Given the description of an element on the screen output the (x, y) to click on. 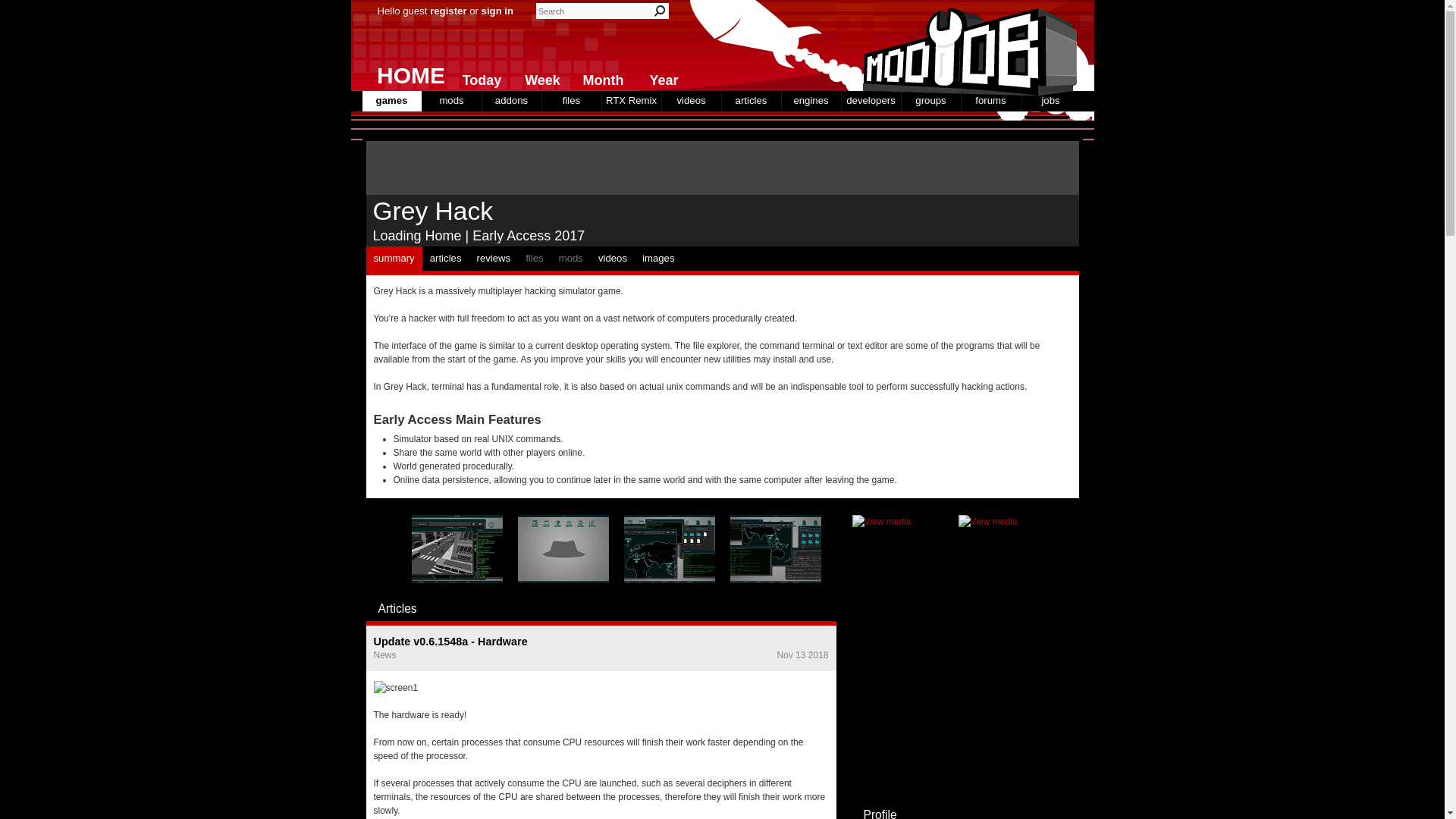
New today (478, 76)
mods (451, 100)
New this month (599, 76)
ModDB Home (965, 45)
Search (660, 10)
Today (478, 76)
addons (511, 100)
HOME (405, 71)
Year (660, 76)
videos (690, 100)
